Given the description of an element on the screen output the (x, y) to click on. 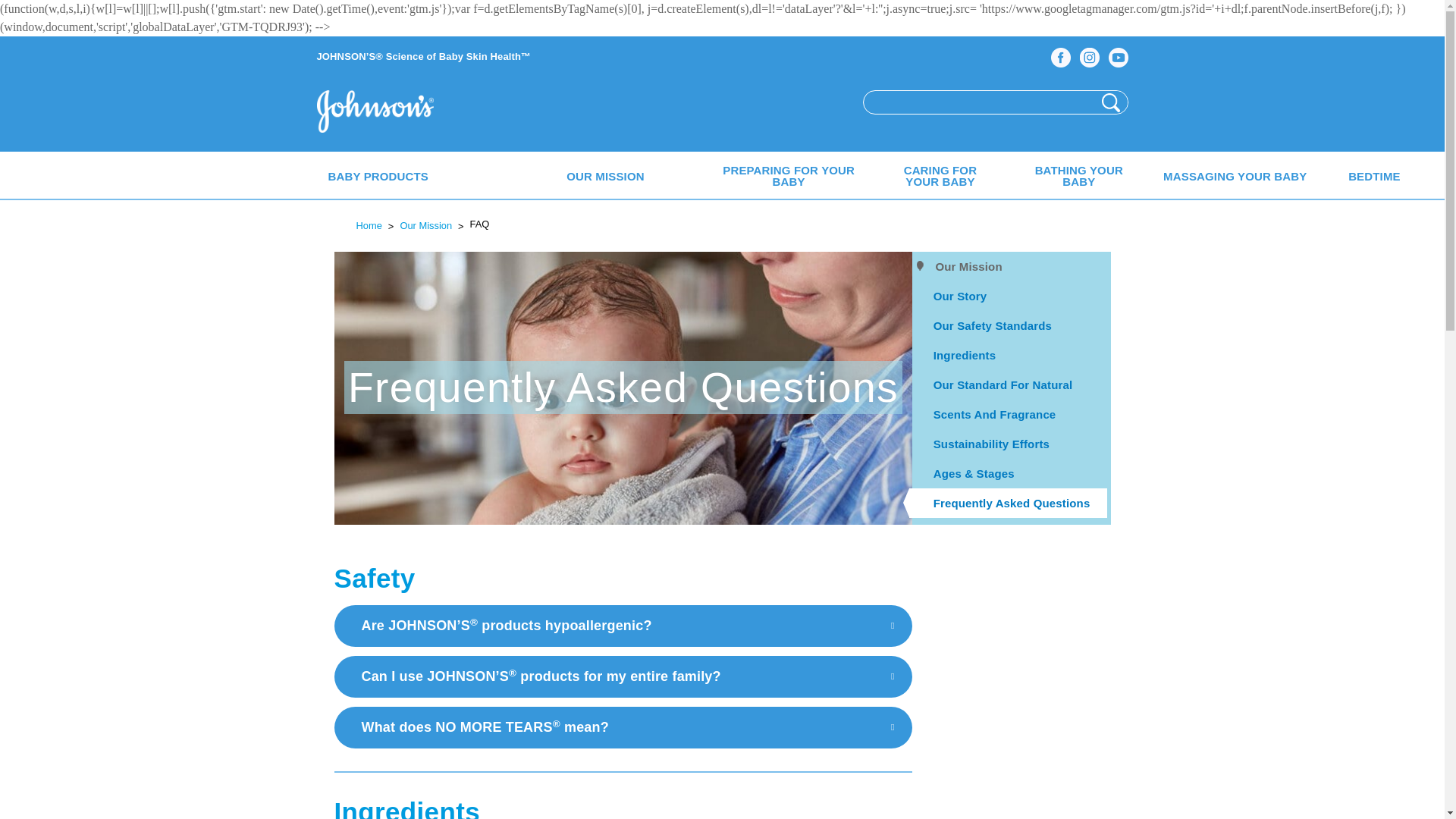
Home (384, 113)
BABY PRODUCTS (379, 175)
Search (1109, 101)
Search (1109, 101)
Enter the terms you wish to search for. (978, 101)
